Given the description of an element on the screen output the (x, y) to click on. 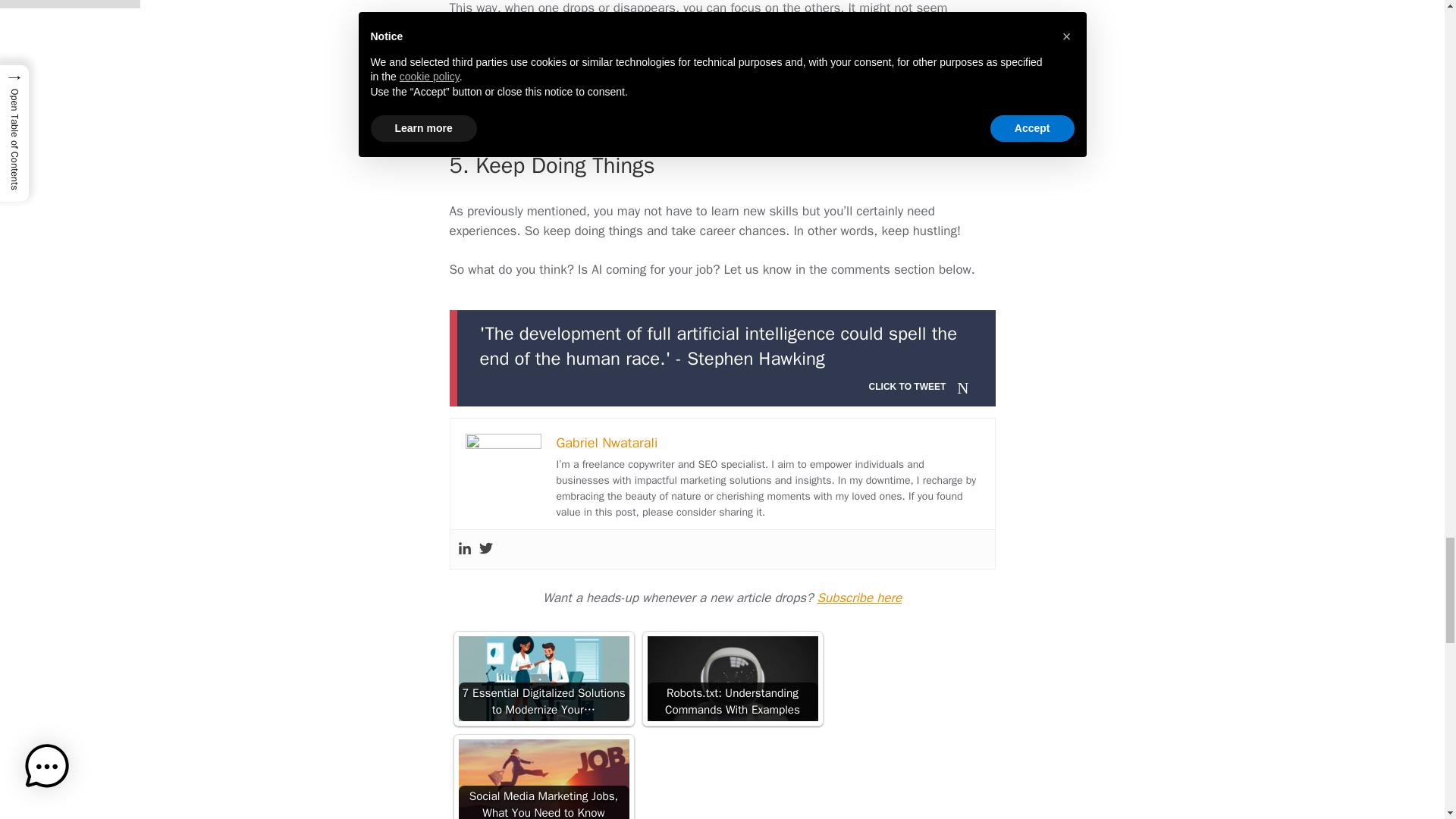
Robots.txt: Understanding Commands With Examples (732, 678)
Social Media Marketing Jobs, What You Need to Know (543, 779)
